Given the description of an element on the screen output the (x, y) to click on. 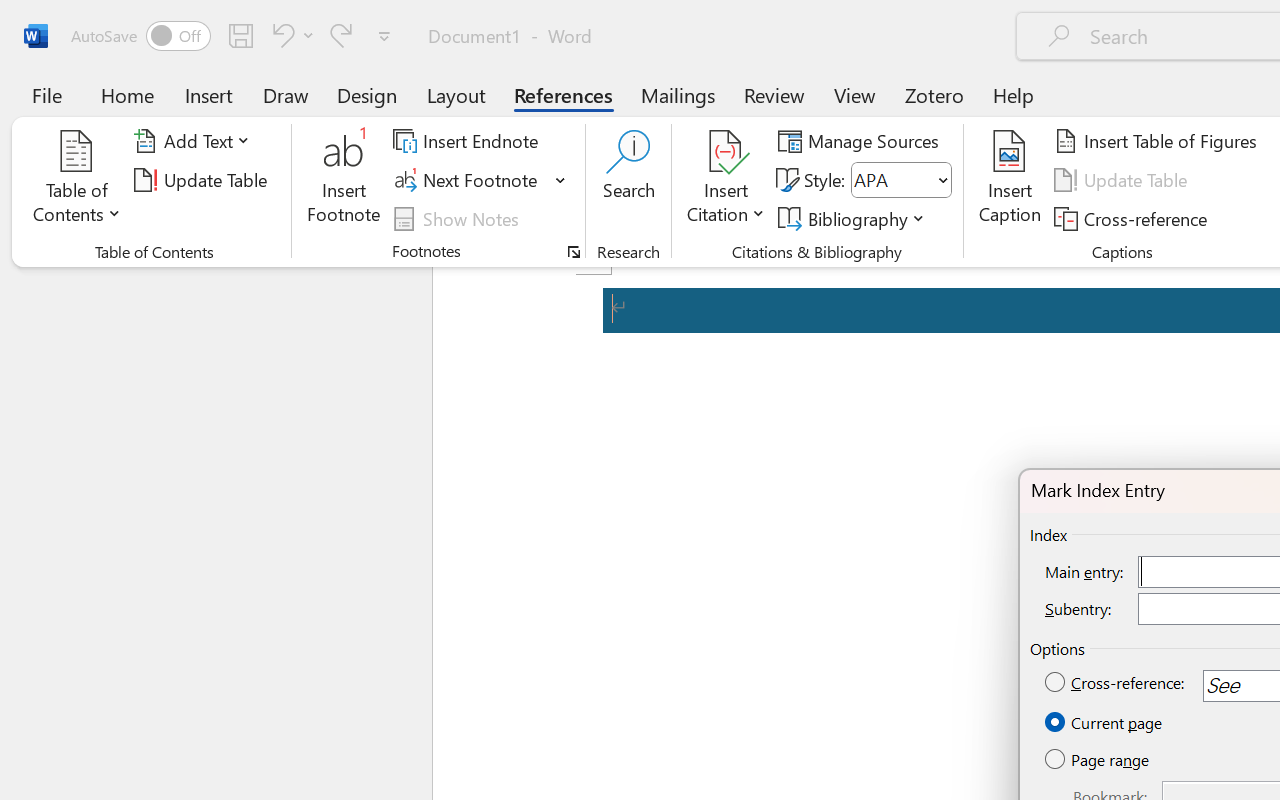
Insert Table of Figures... (1158, 141)
Show Notes (459, 218)
Footnote and Endnote Dialog... (573, 252)
Current page (1105, 723)
Undo Apply Quick Style Set (280, 35)
Manage Sources... (861, 141)
Next Footnote (479, 179)
Table of Contents (77, 179)
